Given the description of an element on the screen output the (x, y) to click on. 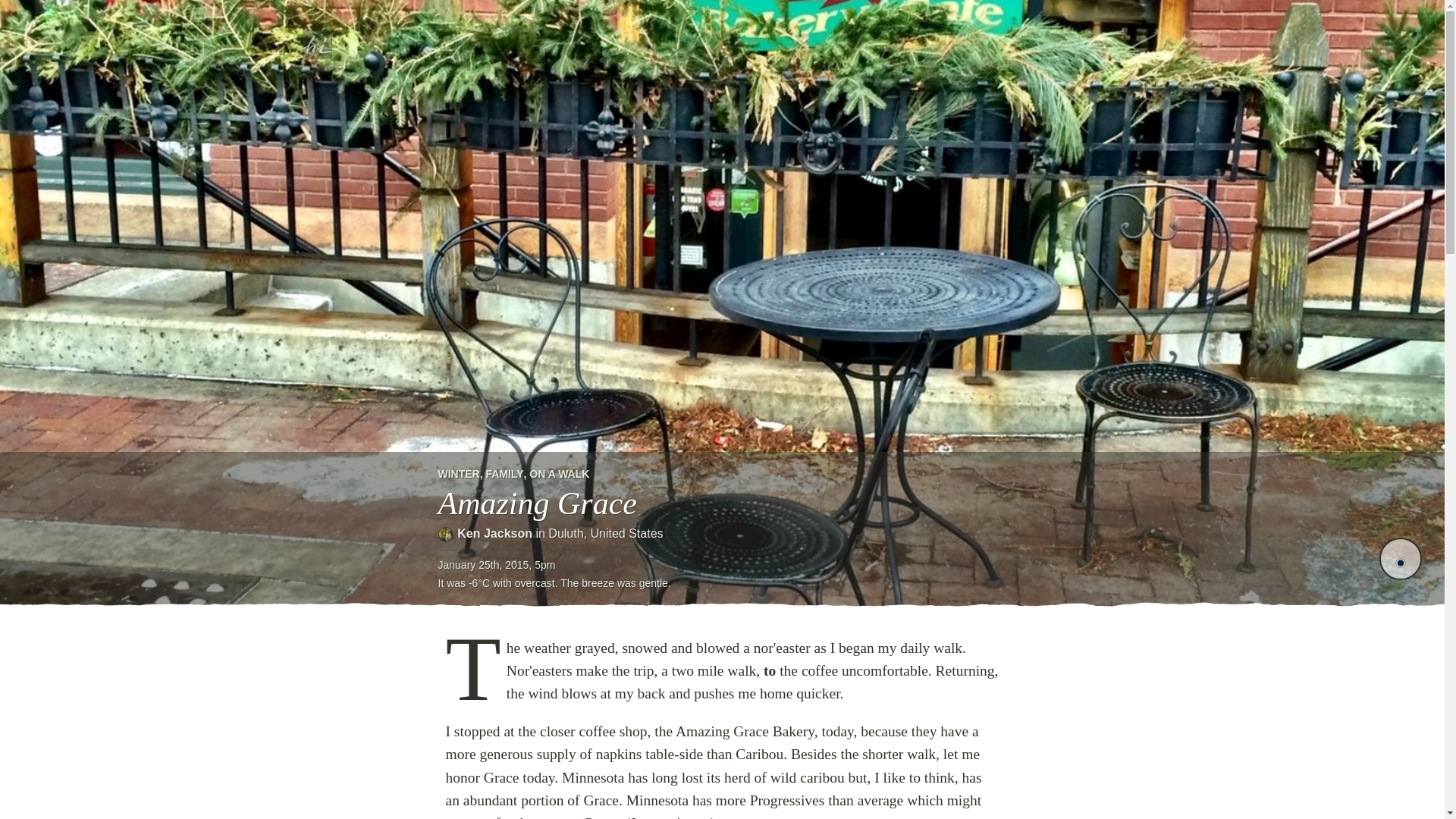
ON A WALK (559, 473)
FAMILY (503, 473)
Ken Jackson (494, 533)
WINTER (459, 473)
Duluth, United States (605, 533)
